Given the description of an element on the screen output the (x, y) to click on. 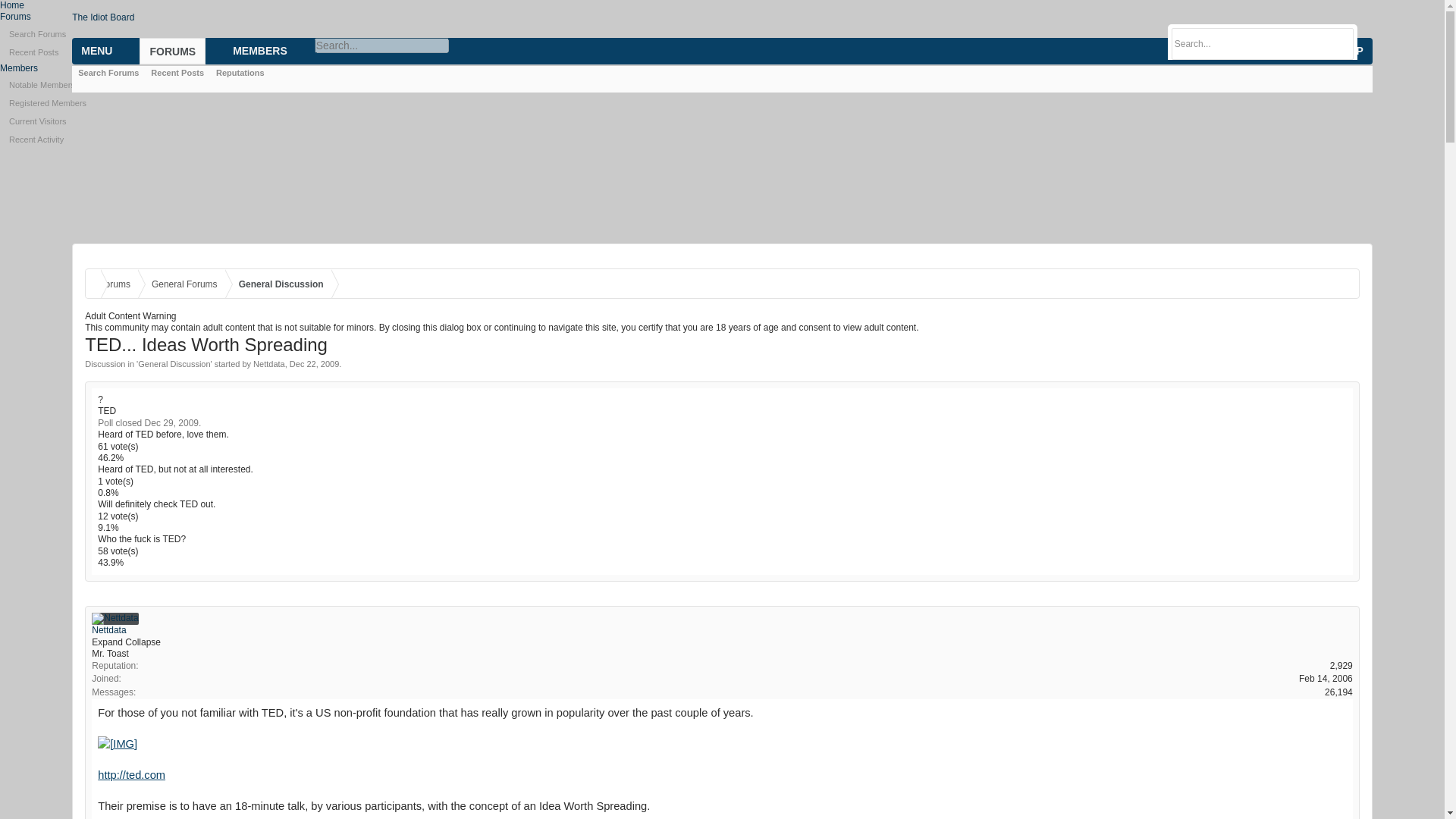
Members (18, 68)
Forums (15, 16)
General Forums (181, 284)
Recent Posts (721, 52)
FORUMS (172, 50)
Current Visitors (721, 121)
Registered Members (721, 103)
Reputations (239, 72)
Search Forums (721, 34)
Notable Members (721, 85)
